Given the description of an element on the screen output the (x, y) to click on. 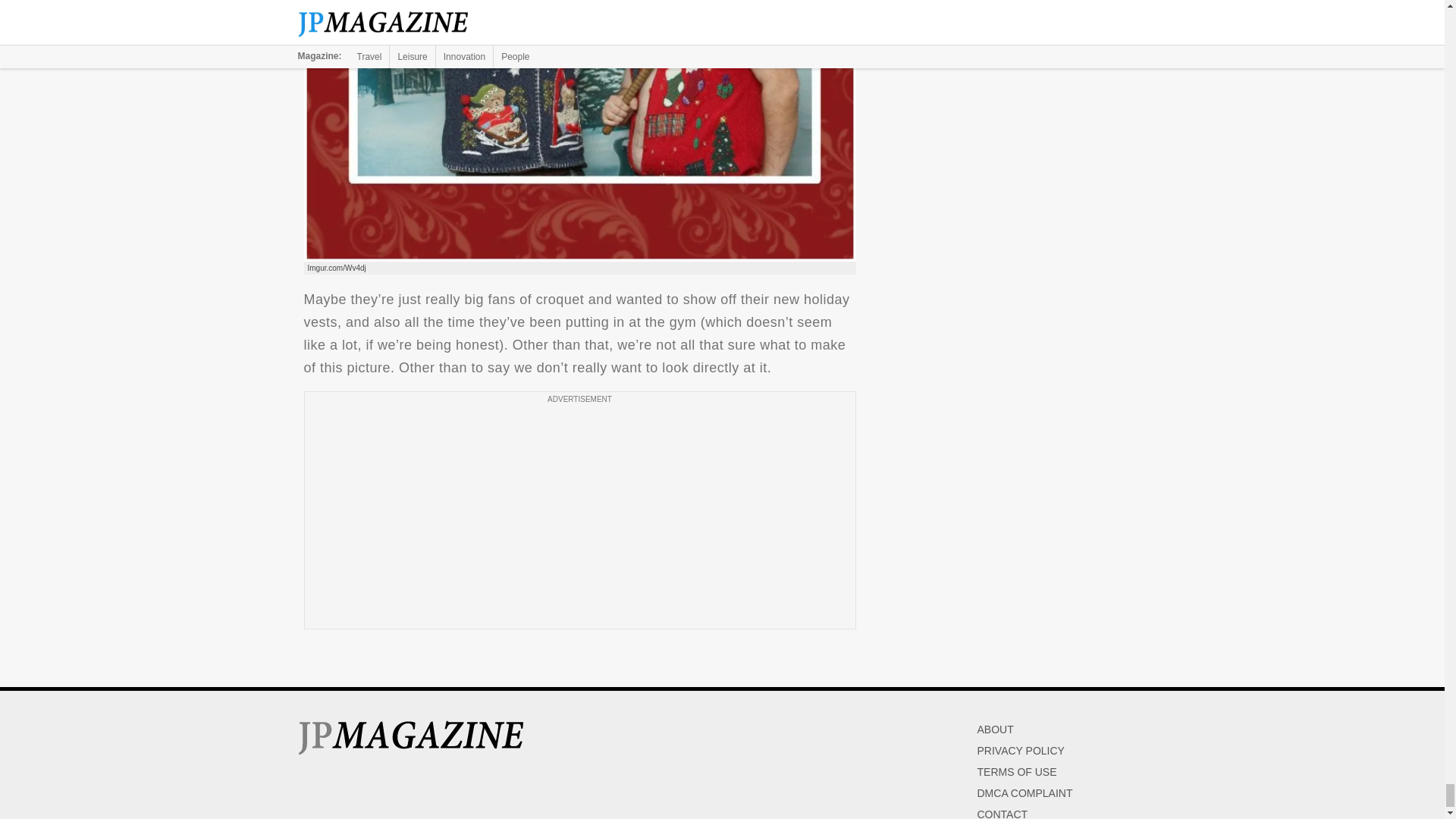
CONTACT (1001, 813)
DMCA COMPLAINT (1023, 793)
TERMS OF USE (1016, 771)
ABOUT (994, 729)
PRIVACY POLICY (1020, 750)
